Given the description of an element on the screen output the (x, y) to click on. 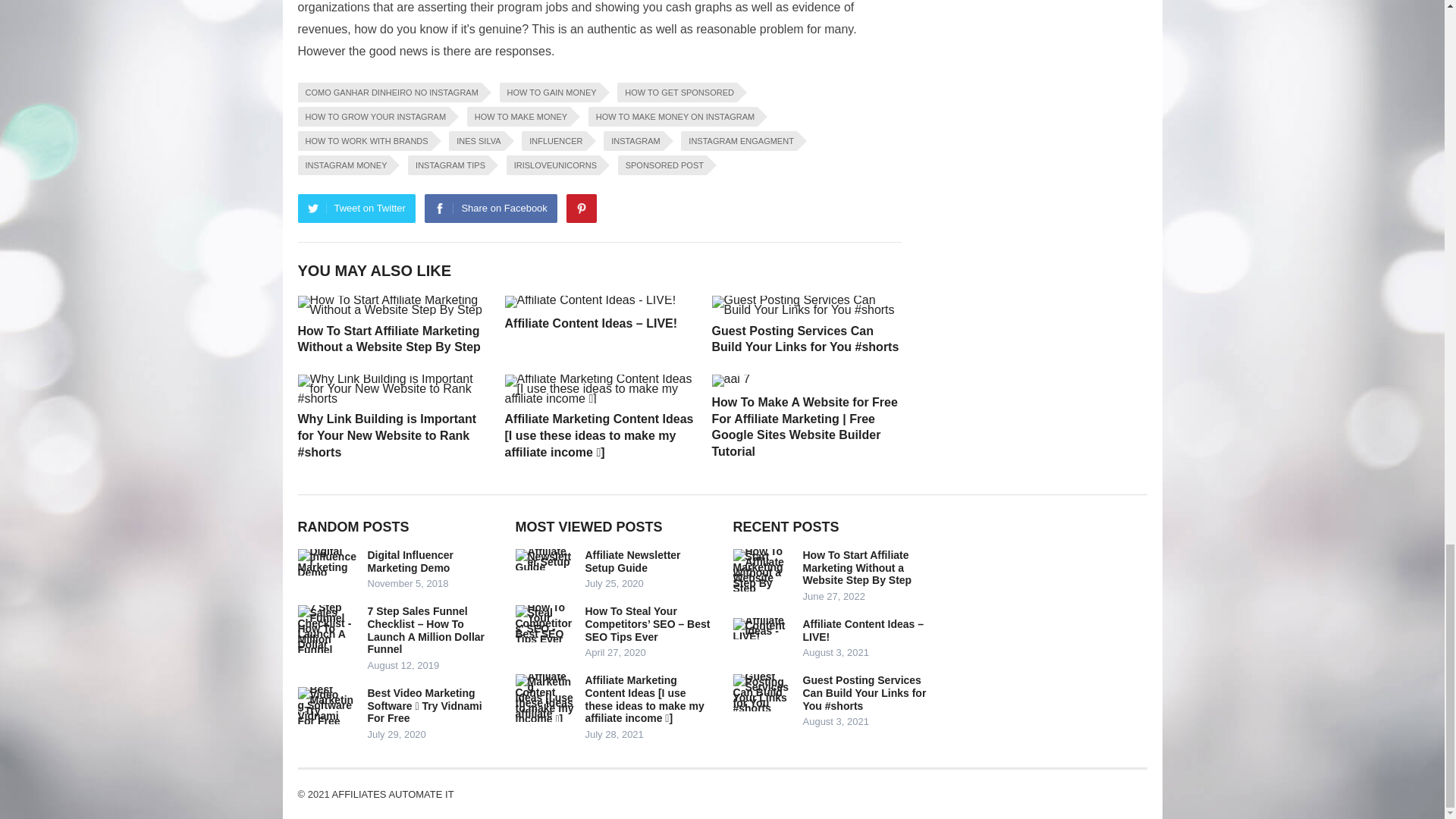
INFLUENCER (553, 140)
Affiliate Content Ideas - LIVE! 4 (591, 301)
HOW TO GAIN MONEY (548, 92)
HOW TO MAKE MONEY ON INSTAGRAM (672, 116)
HOW TO MAKE MONEY (518, 116)
COMO GANHAR DINHEIRO NO INSTAGRAM (388, 92)
HOW TO GROW YOUR INSTAGRAM (372, 116)
INES SILVA (475, 140)
INSTAGRAM (633, 140)
HOW TO GET SPONSORED (676, 92)
HOW TO WORK WITH BRANDS (363, 140)
